Given the description of an element on the screen output the (x, y) to click on. 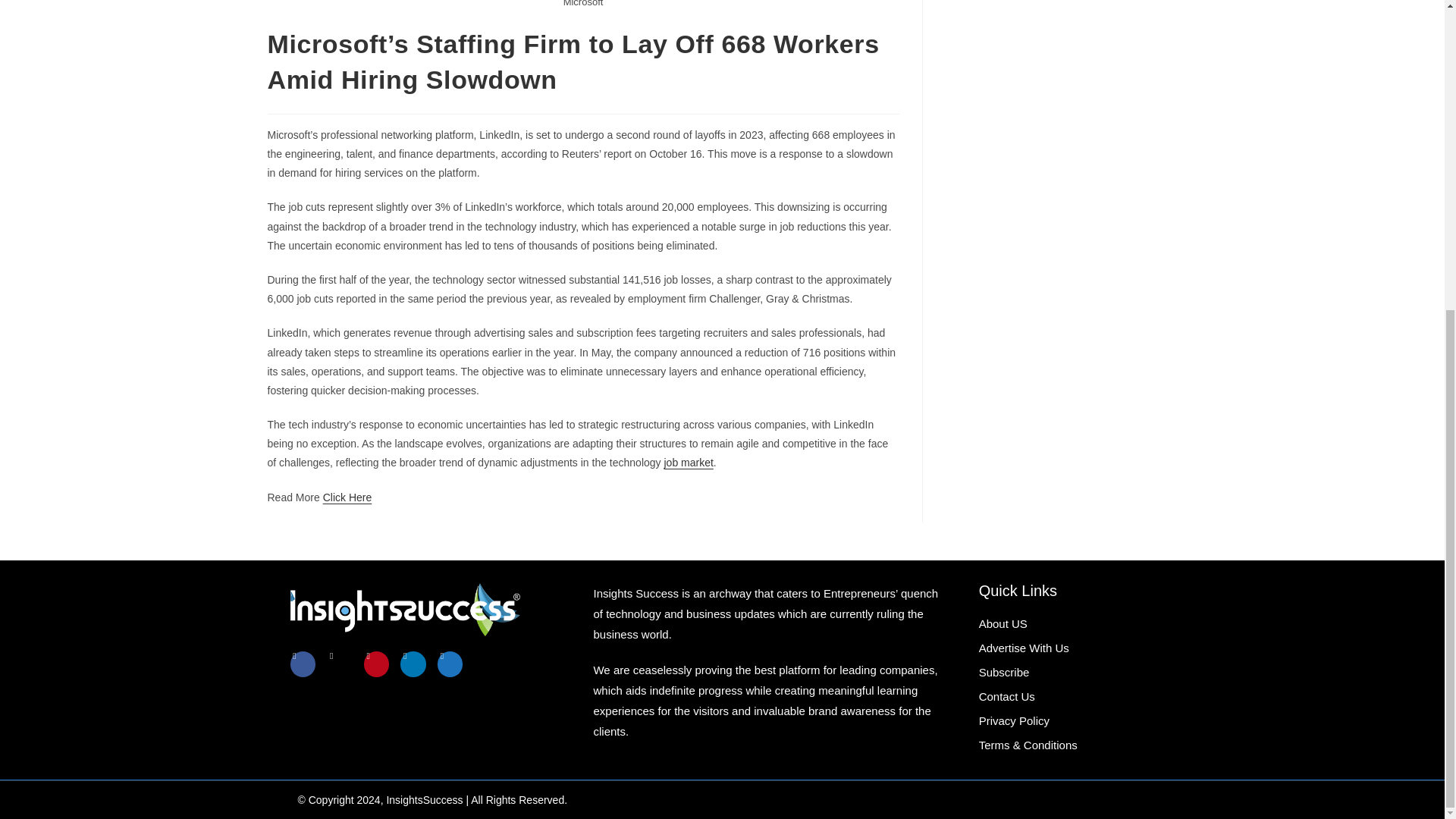
Click Here (347, 497)
job market (688, 462)
